Given the description of an element on the screen output the (x, y) to click on. 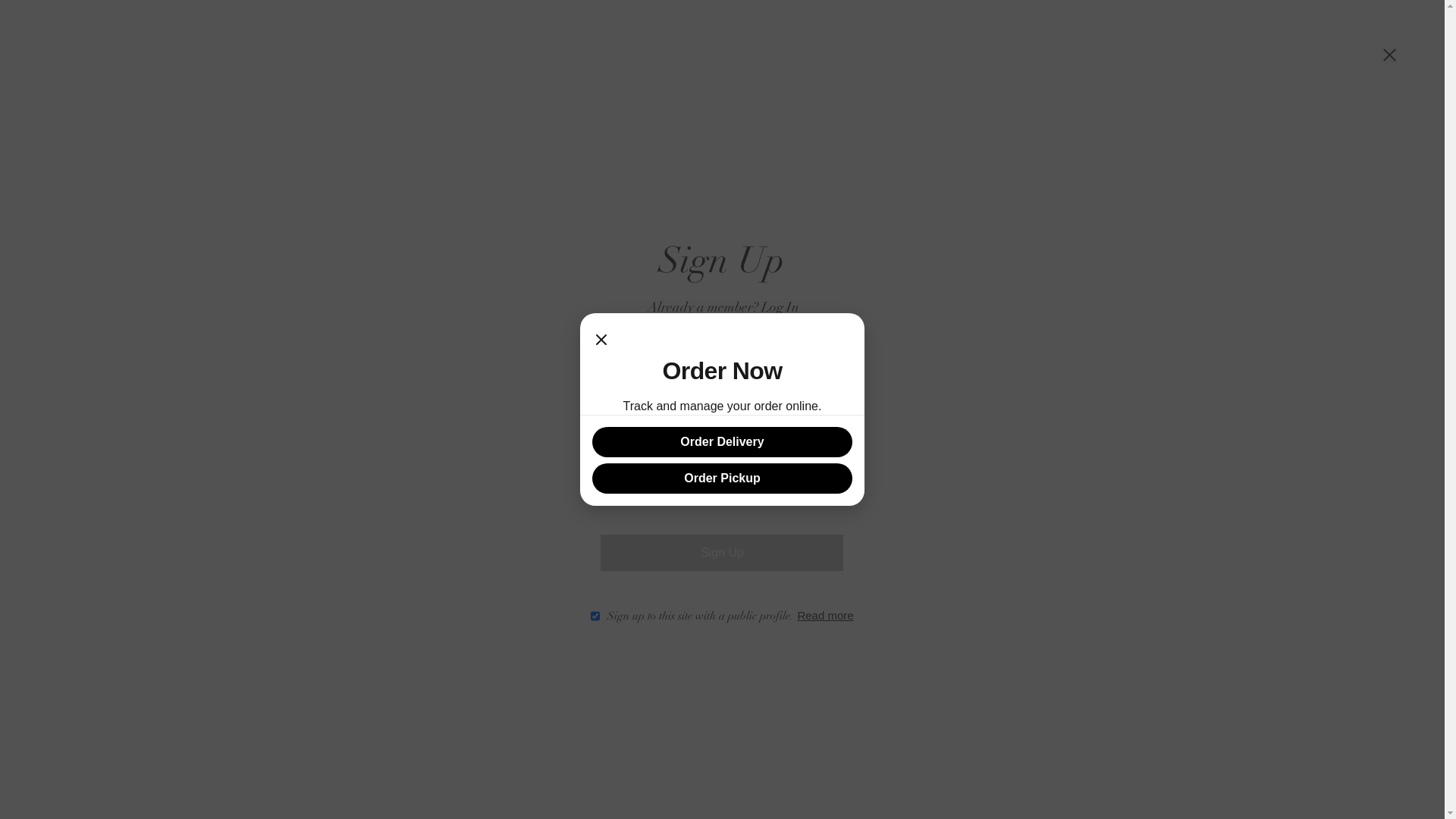
Sign Up Element type: text (721, 552)
Log In Element type: text (780, 307)
Order Delivery Element type: text (722, 441)
Order Now Element type: text (721, 791)
Order Pickup Element type: text (722, 478)
Read more Element type: text (825, 614)
